Given the description of an element on the screen output the (x, y) to click on. 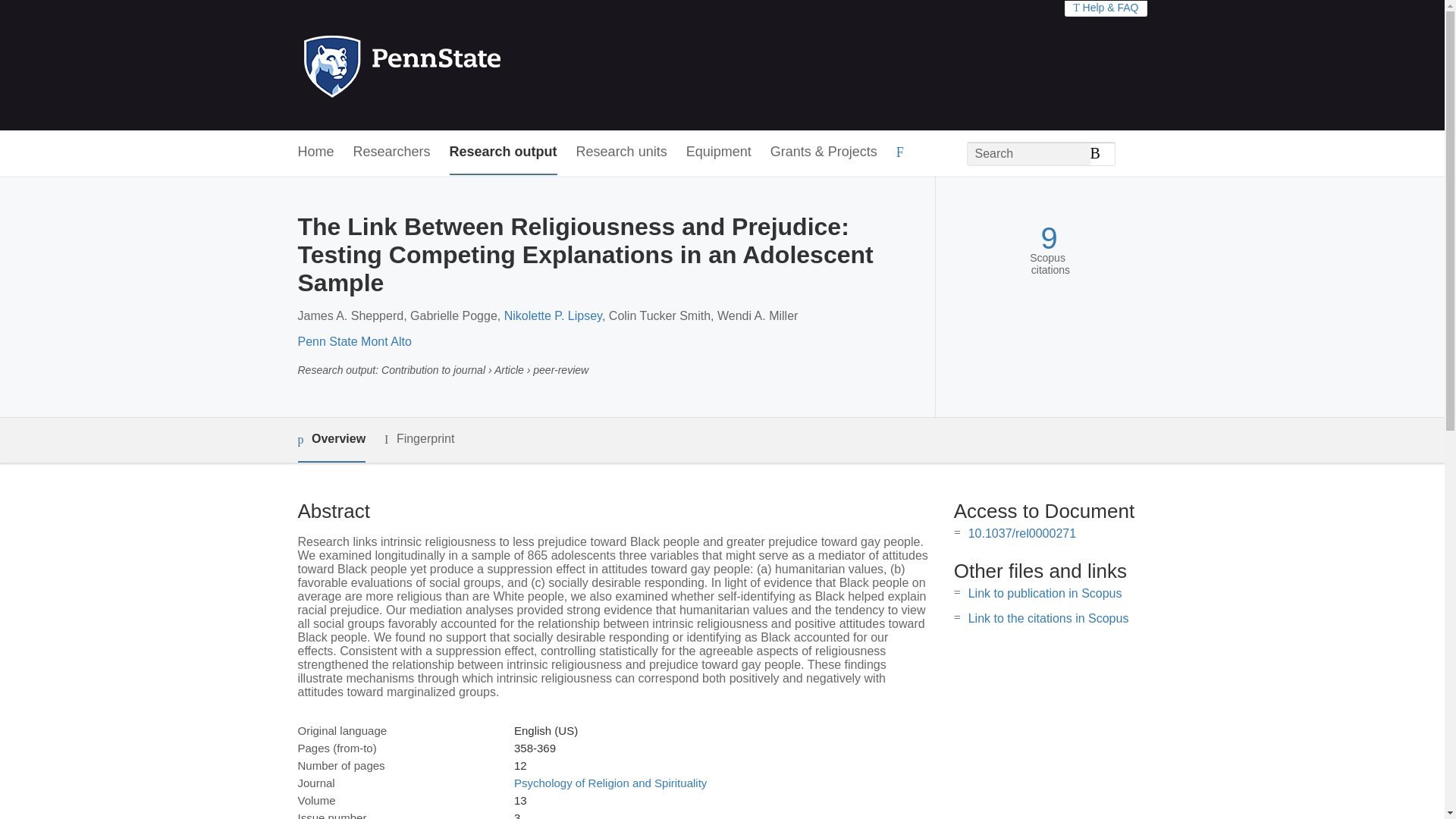
Link to the citations in Scopus (1048, 617)
Equipment (718, 152)
Researchers (391, 152)
Penn State Mont Alto (353, 341)
Nikolette P. Lipsey (552, 315)
Link to publication in Scopus (1045, 593)
Penn State Home (467, 65)
Overview (331, 439)
Research output (503, 152)
Research units (621, 152)
Psychology of Religion and Spirituality (609, 782)
Fingerprint (419, 439)
